Given the description of an element on the screen output the (x, y) to click on. 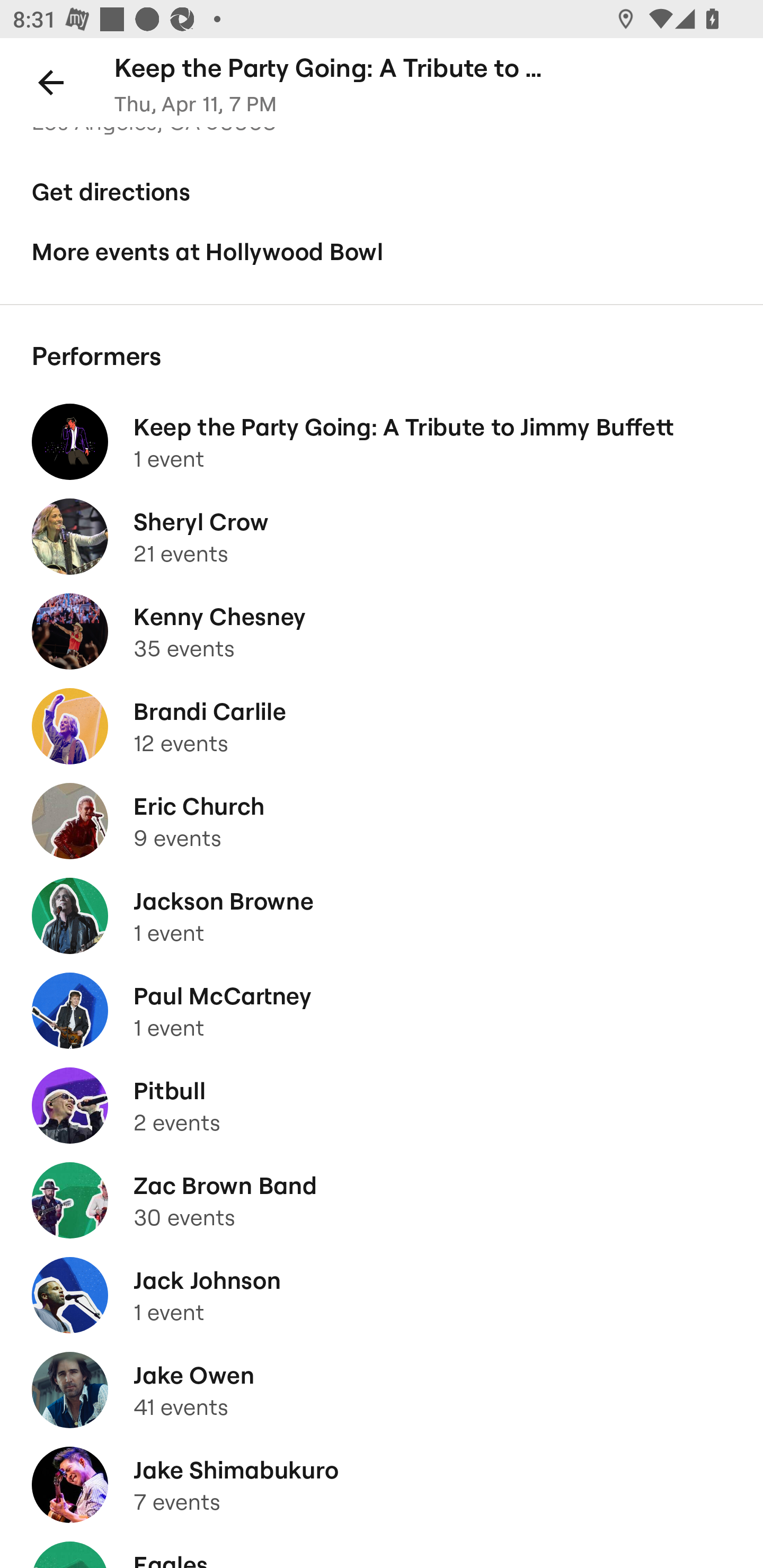
Back (50, 81)
Get directions (381, 191)
More events at Hollywood Bowl (381, 252)
Sheryl Crow 21 events (381, 536)
Kenny Chesney 35 events (381, 631)
Brandi Carlile 12 events (381, 726)
Eric Church 9 events (381, 821)
Jackson Browne 1 event (381, 916)
Paul McCartney 1 event (381, 1011)
Pitbull 2 events (381, 1105)
Zac Brown Band 30 events (381, 1200)
Jack Johnson 1 event (381, 1295)
Jake Owen 41 events (381, 1389)
Jake Shimabukuro 7 events (381, 1484)
